Given the description of an element on the screen output the (x, y) to click on. 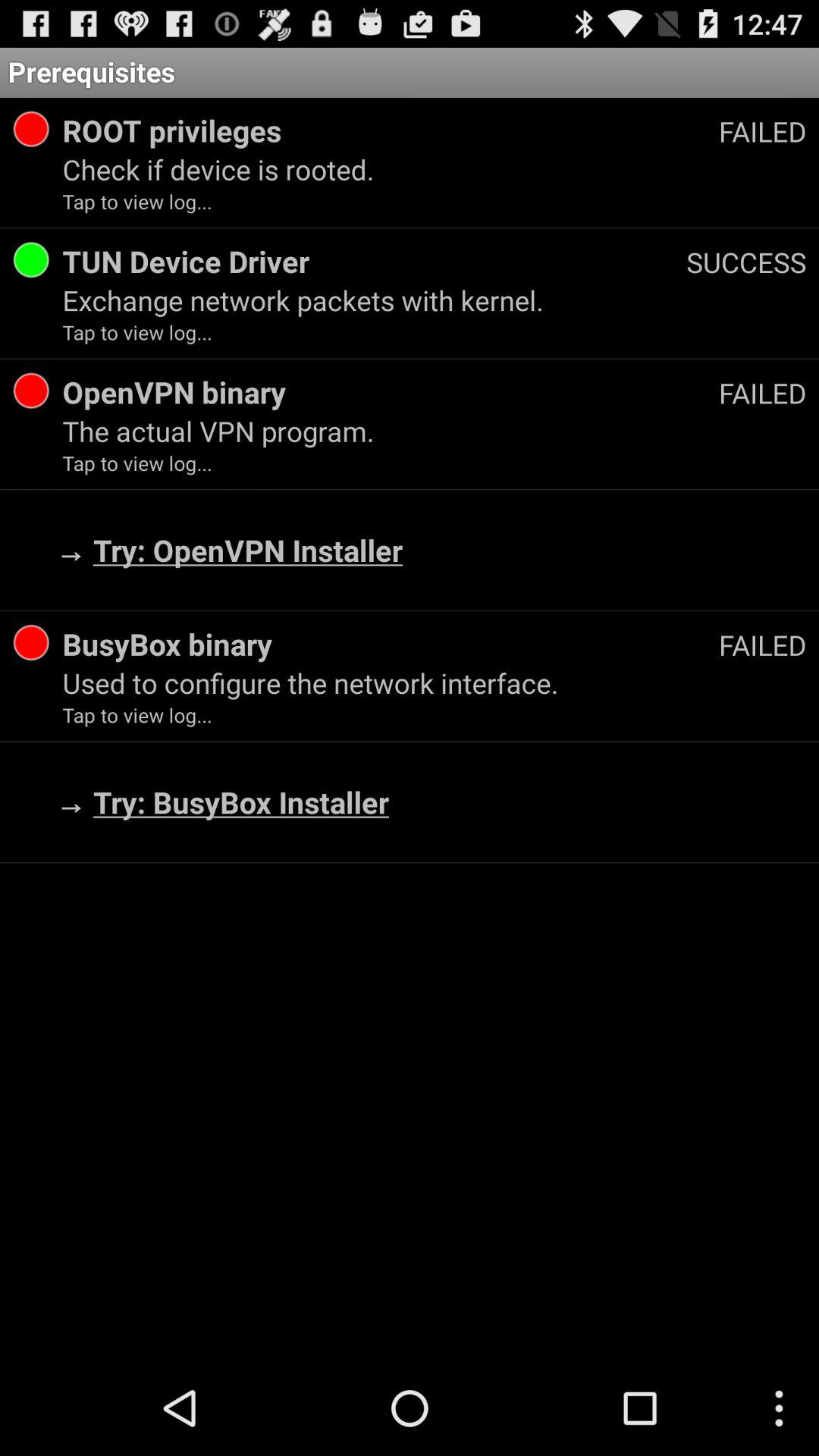
flip until check if device (434, 169)
